Given the description of an element on the screen output the (x, y) to click on. 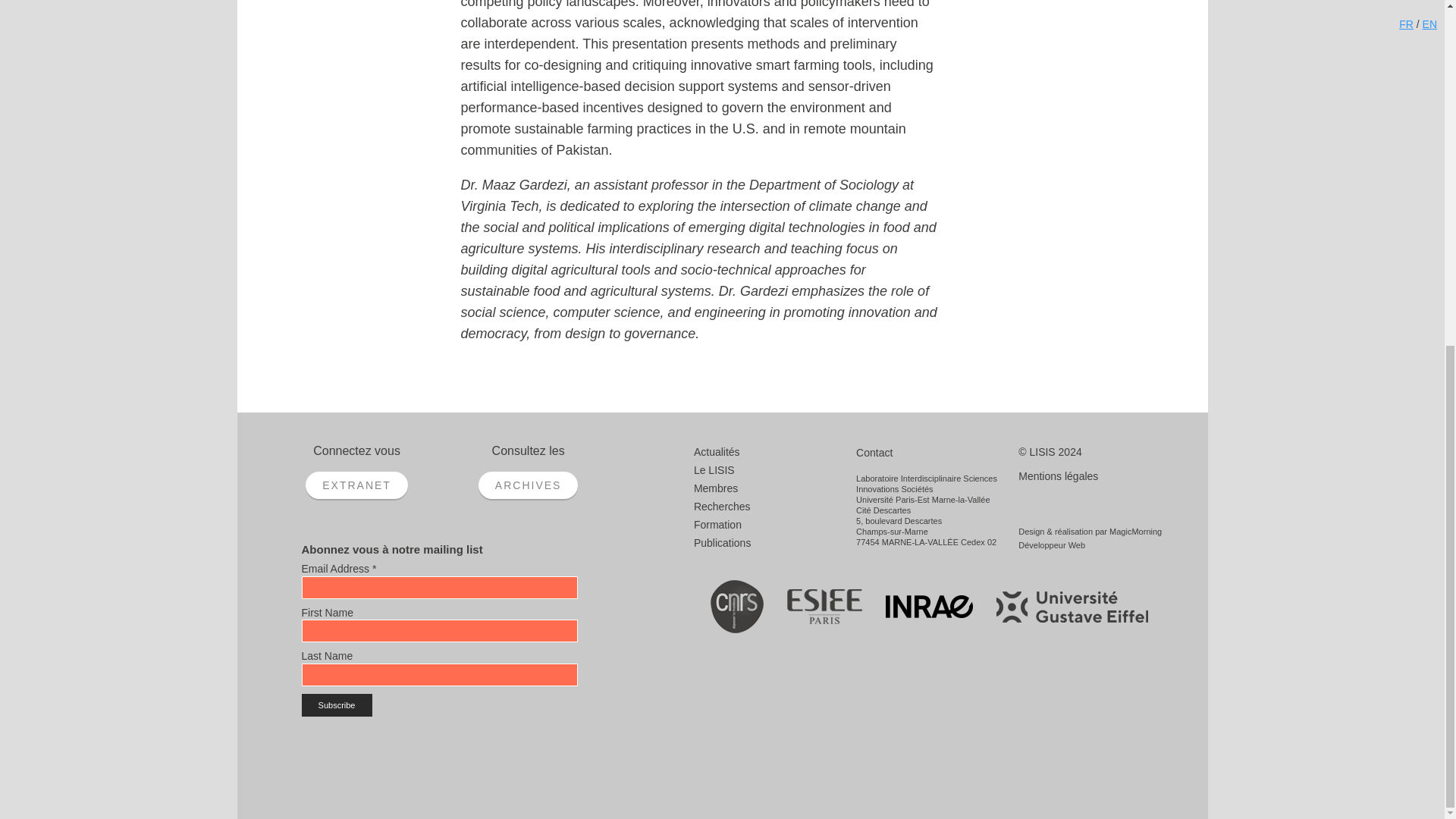
Membres (716, 488)
Publications (722, 542)
Contact (874, 452)
Subscribe (336, 704)
Subscribe (336, 704)
Recherches (722, 506)
EXTRANET (356, 484)
Formation (717, 524)
Le LISIS (714, 469)
ARCHIVES (528, 484)
